Given the description of an element on the screen output the (x, y) to click on. 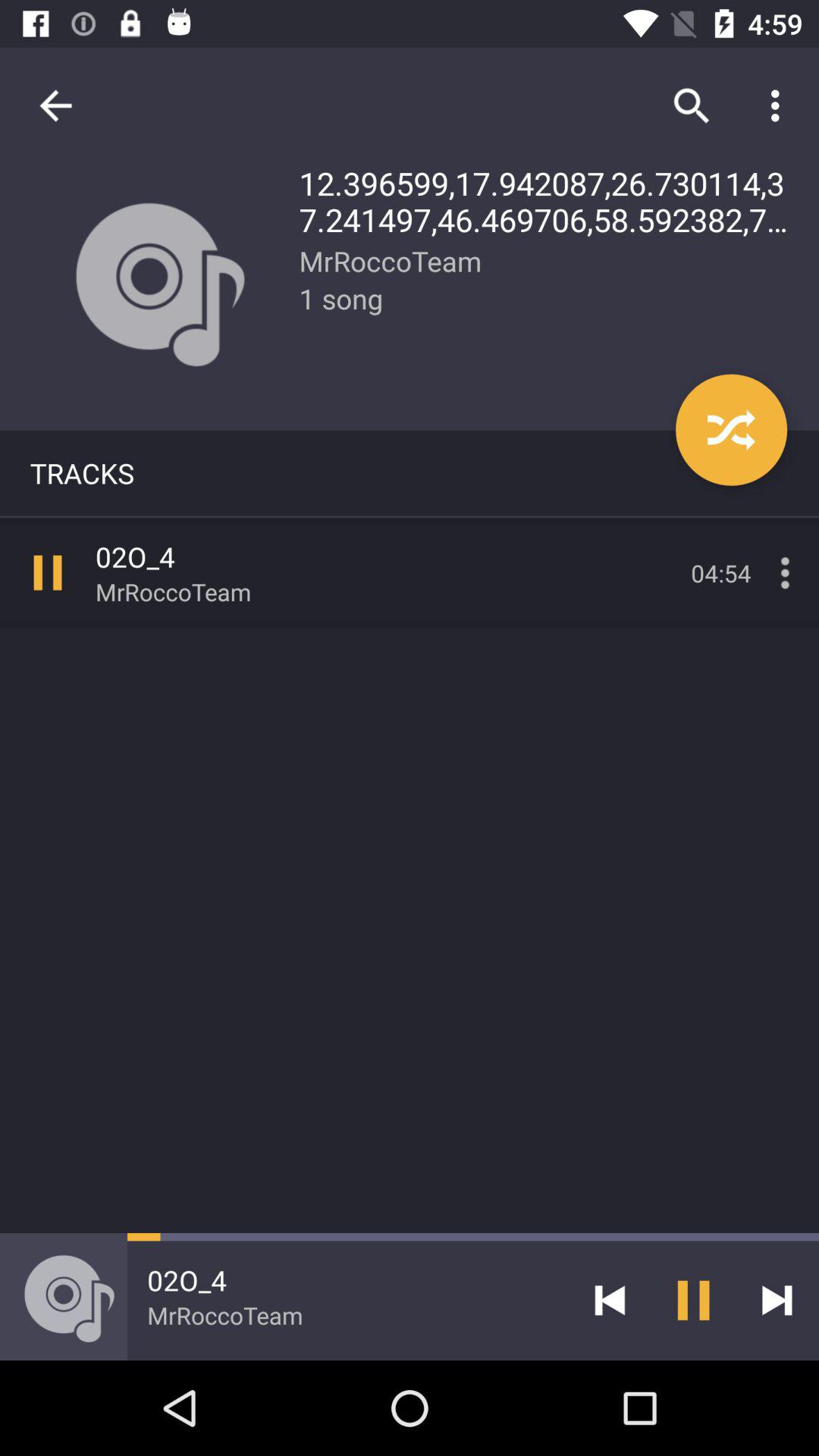
turn on icon to the left of the 12 396599 17 icon (55, 105)
